Given the description of an element on the screen output the (x, y) to click on. 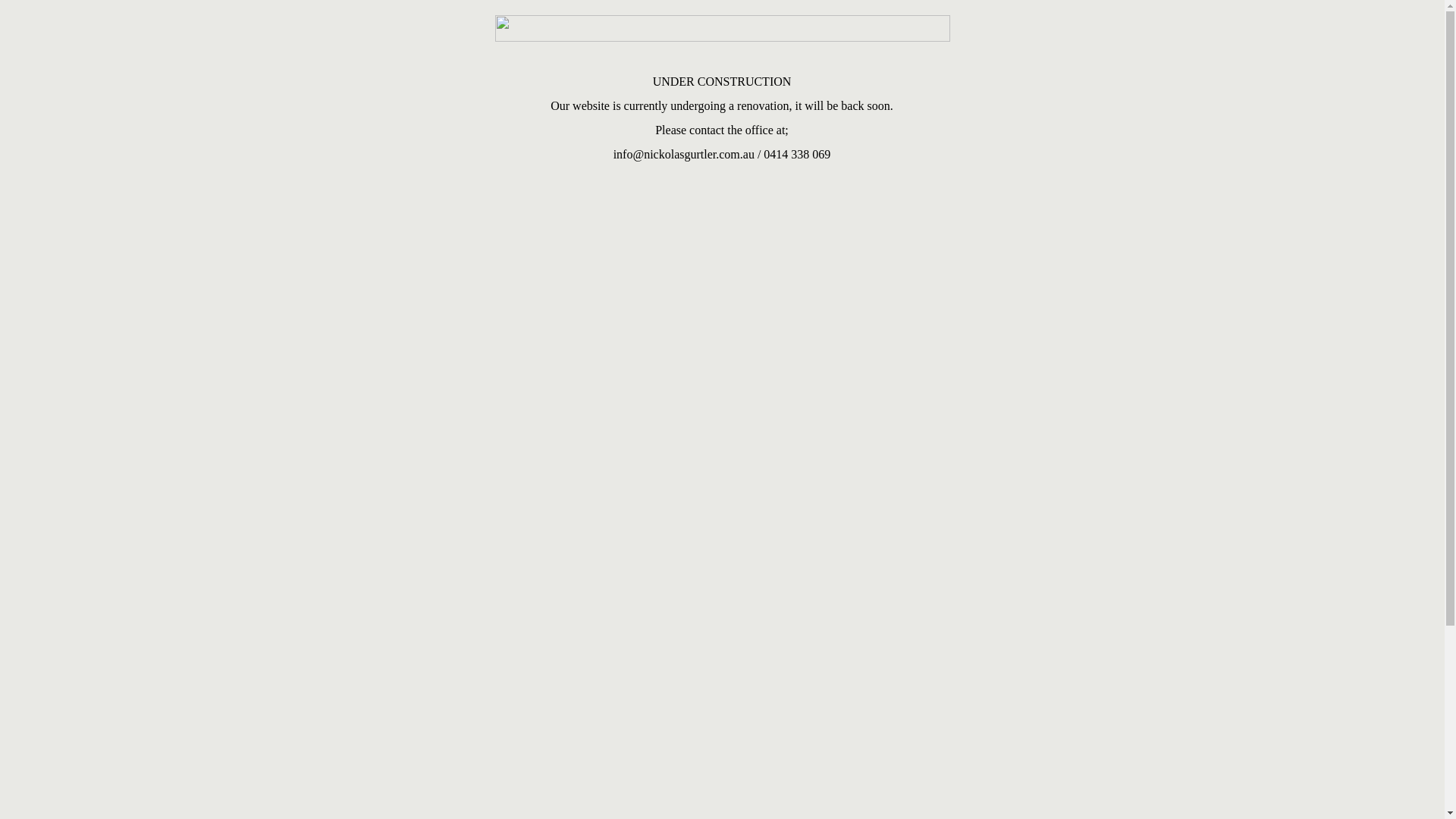
info@nickolasgurtler.com.au Element type: text (683, 153)
